Given the description of an element on the screen output the (x, y) to click on. 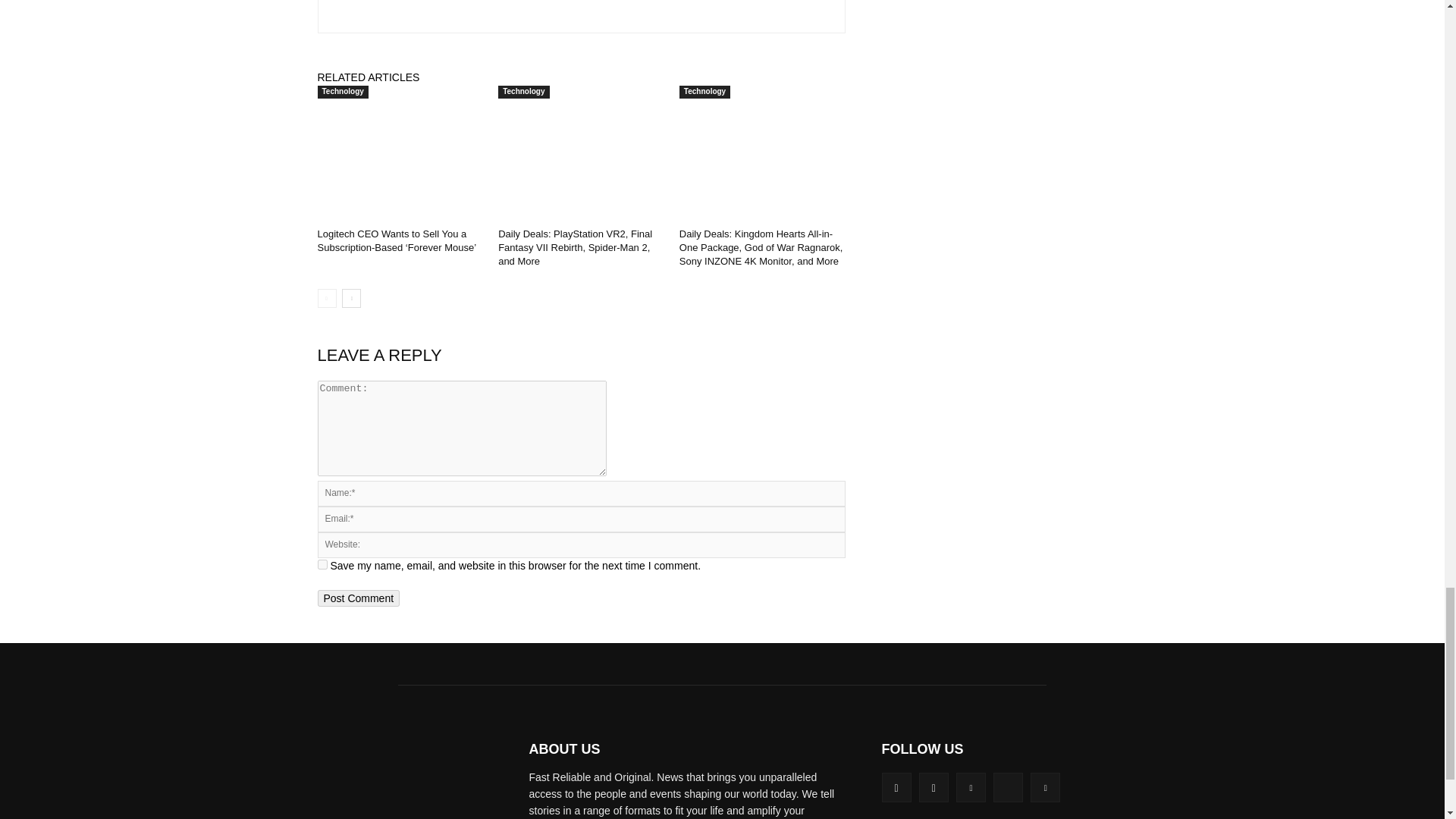
yes (321, 564)
Post Comment (357, 597)
